Given the description of an element on the screen output the (x, y) to click on. 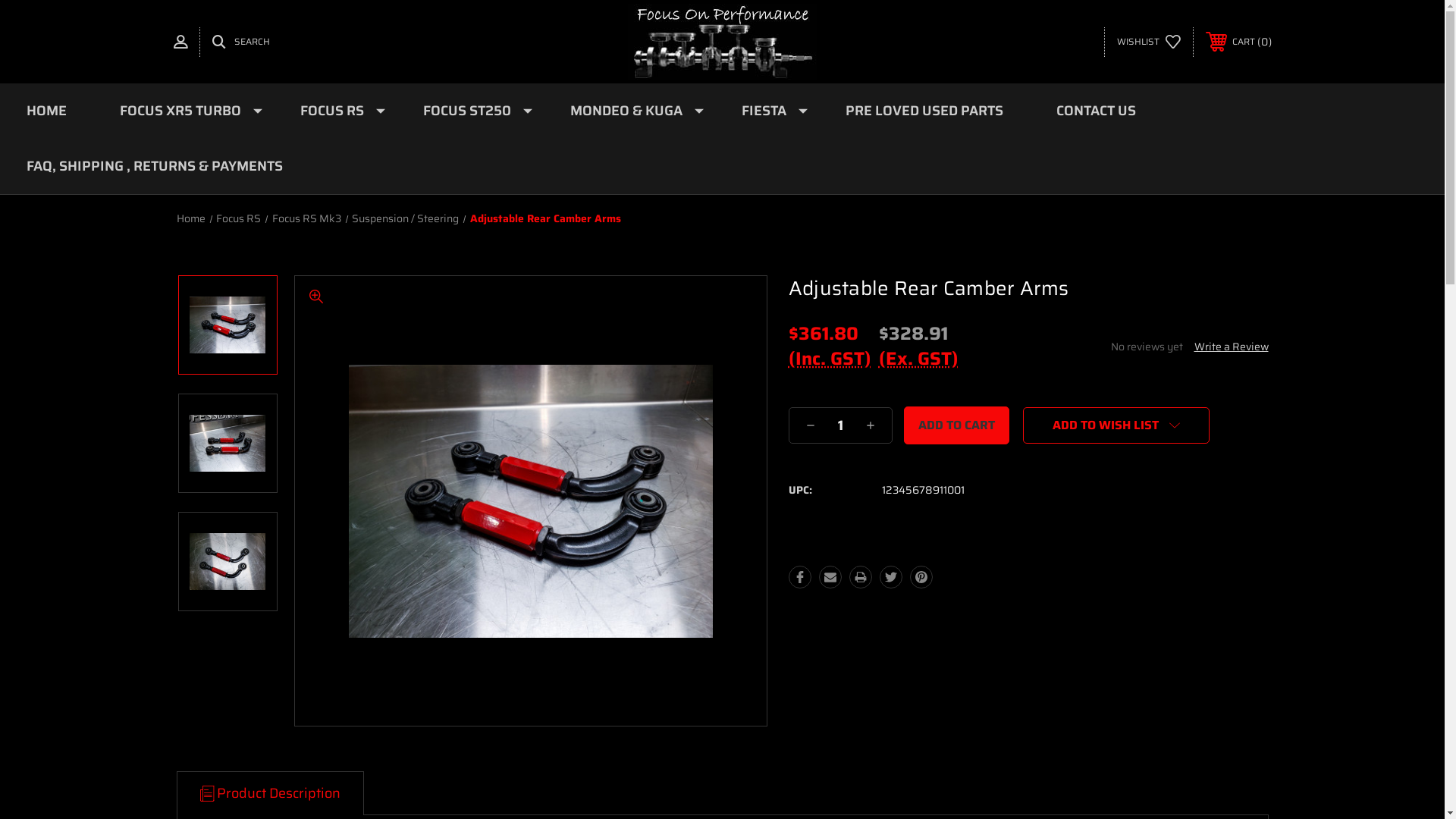
WISHLIST Element type: text (1148, 41)
CONTACT US Element type: text (1095, 110)
FOCUS XR5 TURBO Element type: text (183, 110)
Suspension / Steering Element type: text (404, 218)
Write a Review Element type: text (1230, 346)
HOME Element type: text (46, 110)
Home Element type: text (189, 218)
Increase Quantity: Element type: text (870, 425)
MONDEO & KUGA Element type: text (629, 110)
Focus XR5 Rear Adjustable Camber Arms Element type: hover (227, 324)
FIESTA Element type: text (767, 110)
Focus XR5 Rear Adjustable Camber Arms Element type: hover (227, 561)
CART 0 Element type: text (1238, 41)
Adjustable Rear Camber Arms Element type: text (545, 218)
FOCUS ST250 Element type: text (469, 110)
Add to Cart Element type: text (956, 425)
Focus RS Mk3 Element type: text (305, 218)
Focus On Performance Element type: hover (722, 41)
Decrease Quantity: Element type: text (810, 425)
SEARCH Element type: text (241, 41)
Product Description Element type: text (270, 792)
FAQ, SHIPPING , RETURNS & PAYMENTS Element type: text (154, 166)
FOCUS RS Element type: text (334, 110)
ADD TO WISH LIST Element type: text (1115, 425)
Focus RS Element type: text (238, 218)
Focus XR5 Rear Adjustable Camber Arms Element type: hover (530, 500)
PRE LOVED USED PARTS Element type: text (924, 110)
Focus XR5 Rear Adjustable Camber Arms Element type: hover (227, 442)
